Given the description of an element on the screen output the (x, y) to click on. 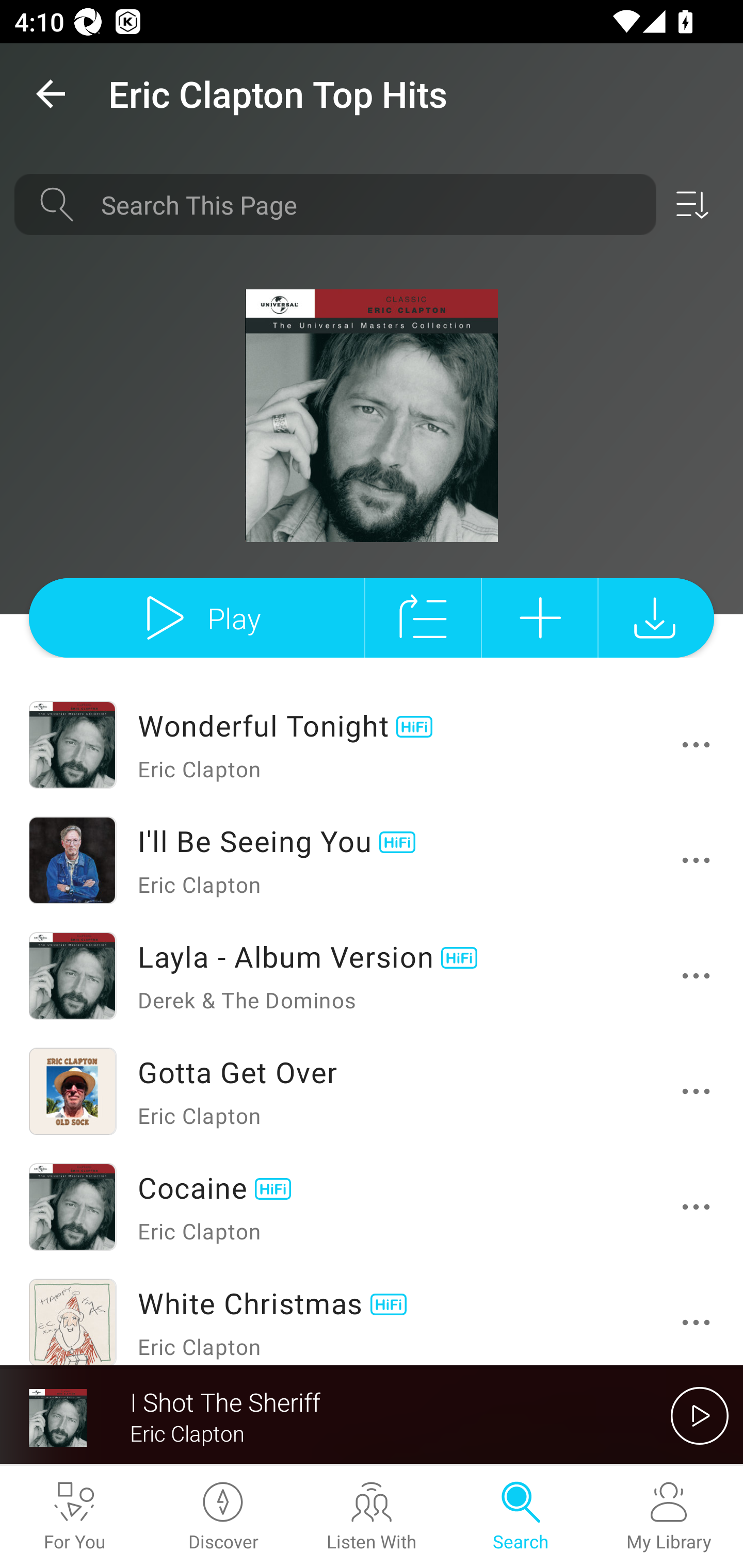
Navigate up (50, 93)
Search This Page (371, 204)
Play (196, 617)
加入至歌單 (539, 617)
下載歌曲至手機 (656, 617)
Wonderful Tonight Eric Clapton 更多操作選項 (371, 744)
更多操作選項 (695, 744)
I'll Be Seeing You Eric Clapton 更多操作選項 (371, 860)
更多操作選項 (695, 859)
Layla - Album Version Derek & The Dominos 更多操作選項 (371, 975)
更多操作選項 (695, 975)
Gotta Get Over Eric Clapton 更多操作選項 (371, 1091)
更多操作選項 (695, 1091)
Cocaine Eric Clapton 更多操作選項 (371, 1207)
更多操作選項 (695, 1206)
White Christmas Eric Clapton 更多操作選項 (371, 1315)
更多操作選項 (695, 1322)
開始播放 (699, 1415)
For You (74, 1517)
Discover (222, 1517)
Listen With (371, 1517)
Search (519, 1517)
My Library (668, 1517)
